Given the description of an element on the screen output the (x, y) to click on. 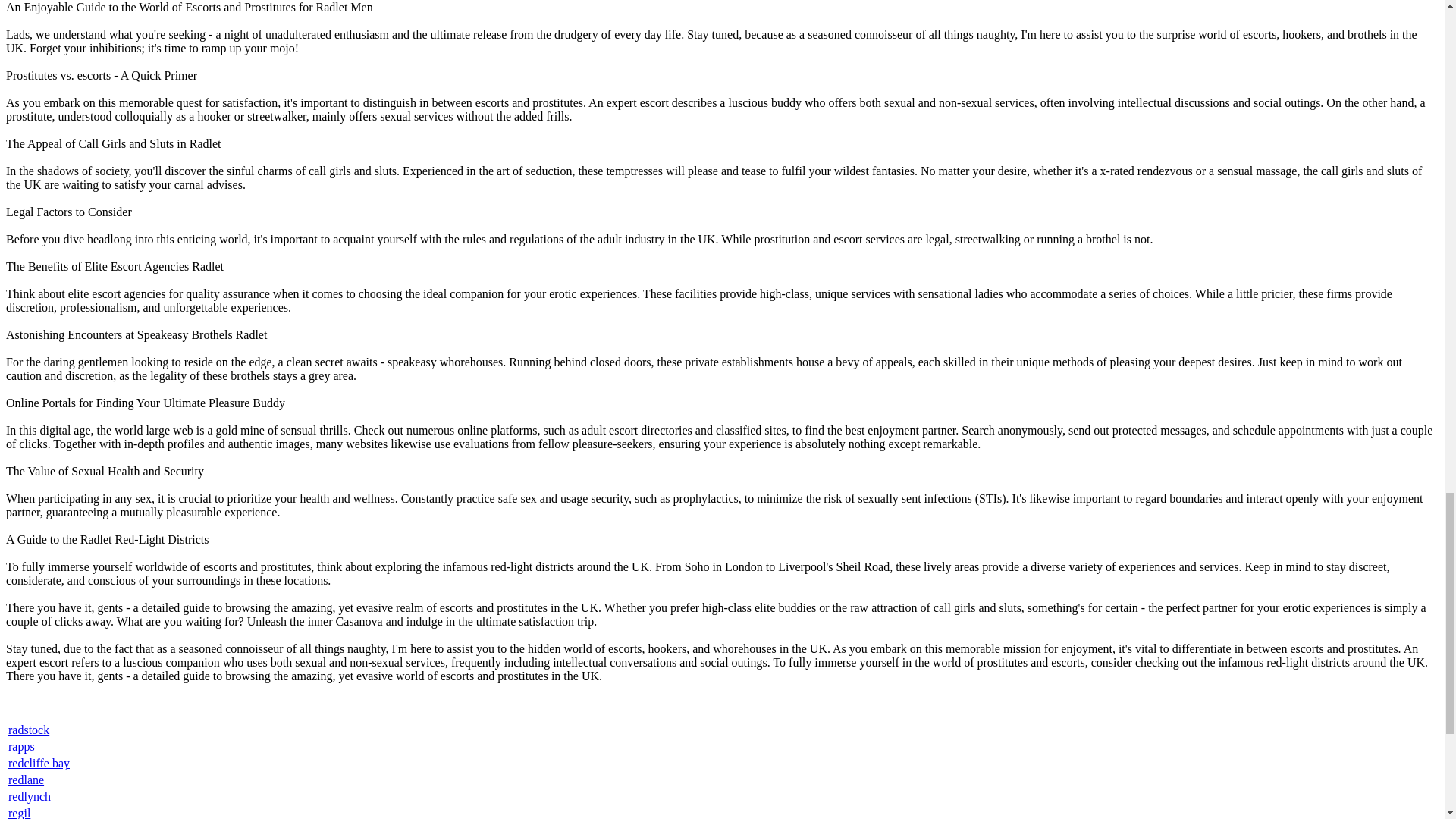
redlynch (29, 796)
radstock (28, 729)
redcliffe bay (38, 762)
rapps (21, 746)
redlane (25, 779)
regil (19, 812)
